Given the description of an element on the screen output the (x, y) to click on. 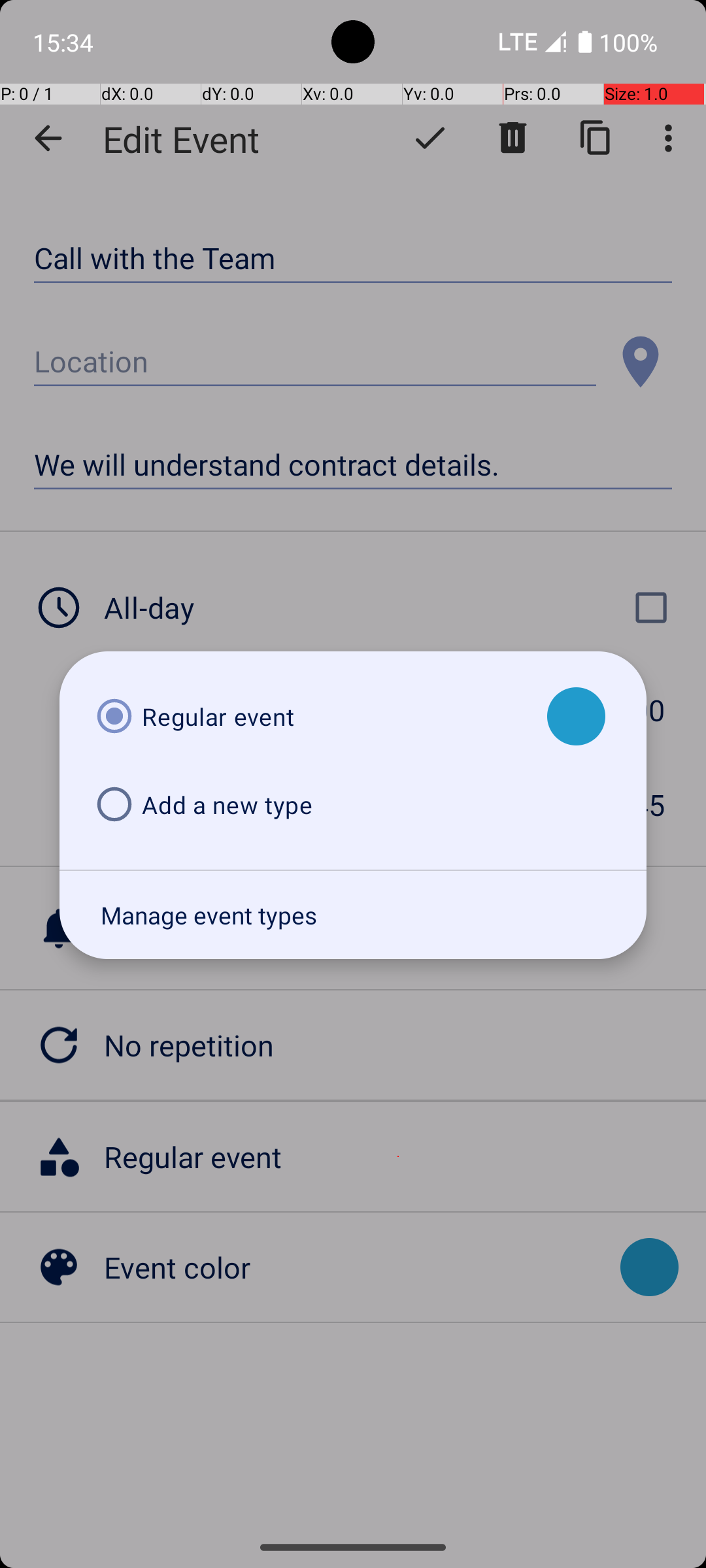
Add a new type Element type: android.widget.RadioButton (309, 804)
